Given the description of an element on the screen output the (x, y) to click on. 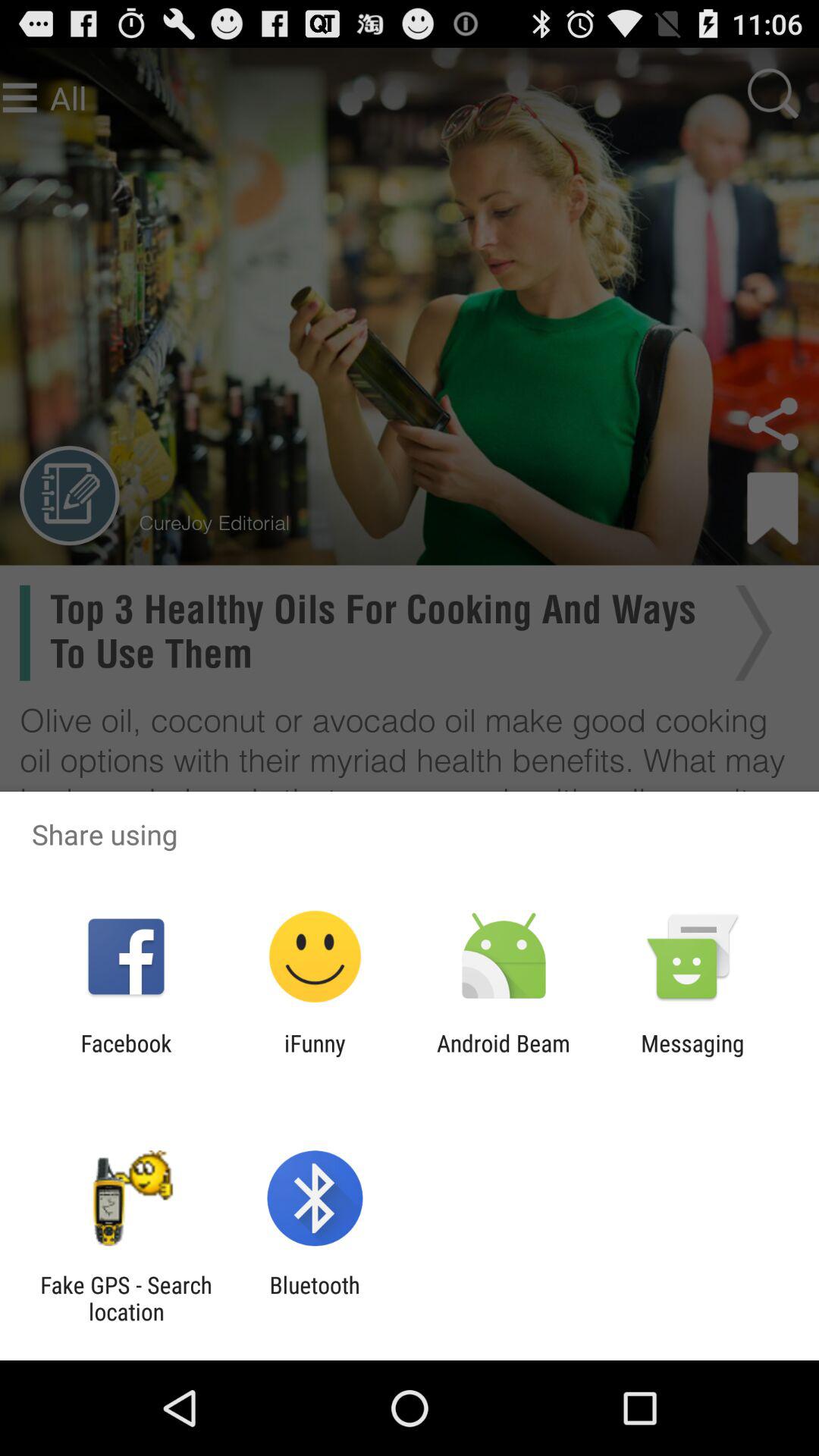
click icon to the left of the bluetooth item (125, 1298)
